Given the description of an element on the screen output the (x, y) to click on. 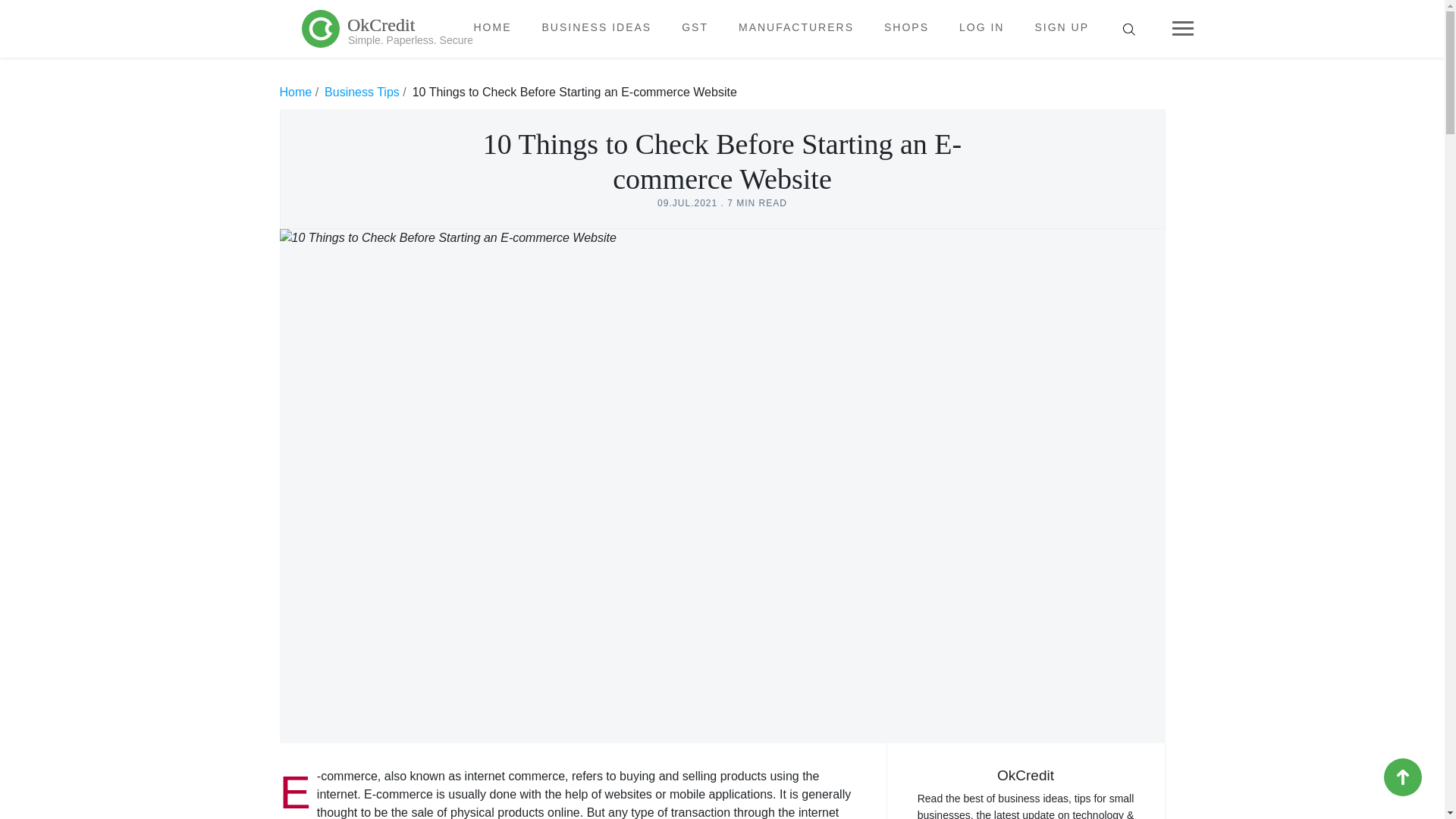
BUSINESS IDEAS (386, 28)
SHOPS (596, 27)
Business Tips (905, 27)
MANUFACTURERS (361, 91)
Home (386, 28)
HOME (796, 27)
LOG IN (295, 91)
SIGN UP (491, 27)
